Given the description of an element on the screen output the (x, y) to click on. 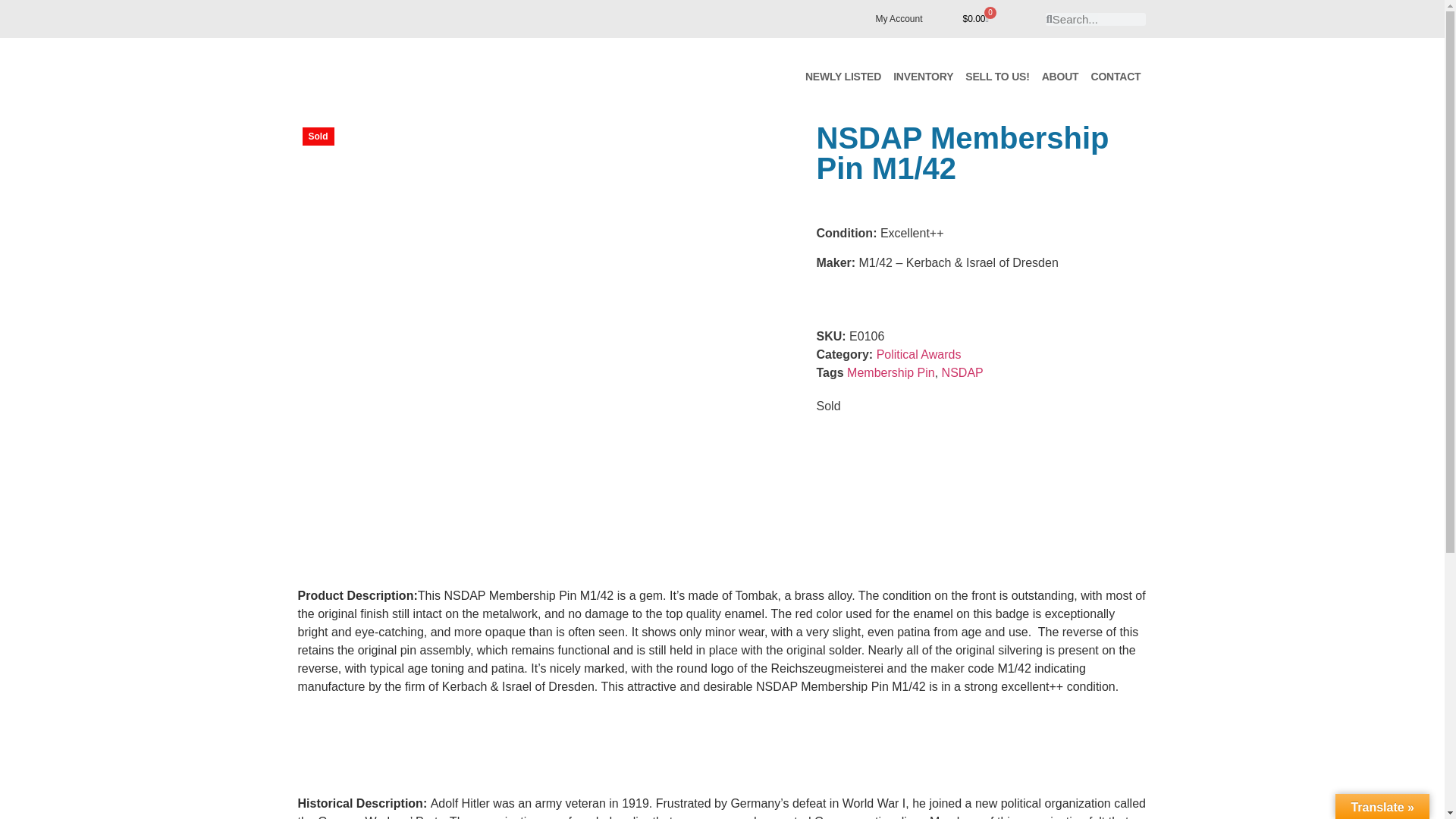
NEWLY LISTED (842, 76)
Political Awards (918, 354)
My Account (898, 18)
Membership Pin (890, 372)
SELL TO US! (997, 76)
CONTACT (1115, 76)
INVENTORY (922, 76)
